Given the description of an element on the screen output the (x, y) to click on. 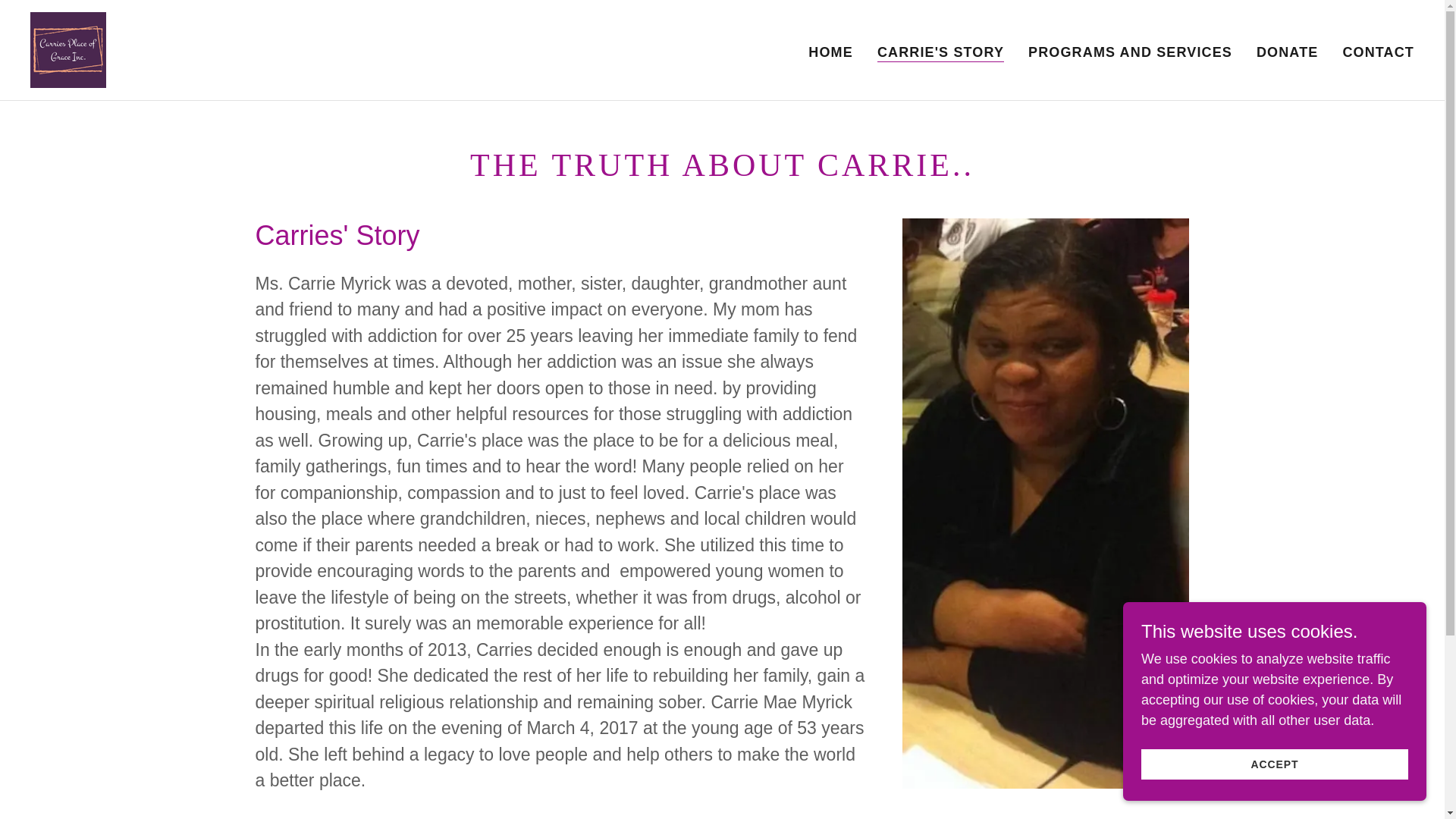
CARRIE'S STORY (940, 51)
ACCEPT (1274, 764)
Carrie's Place of Grace (68, 48)
PROGRAMS AND SERVICES (1129, 51)
CONTACT (1378, 51)
DONATE (1287, 51)
HOME (830, 51)
